Given the description of an element on the screen output the (x, y) to click on. 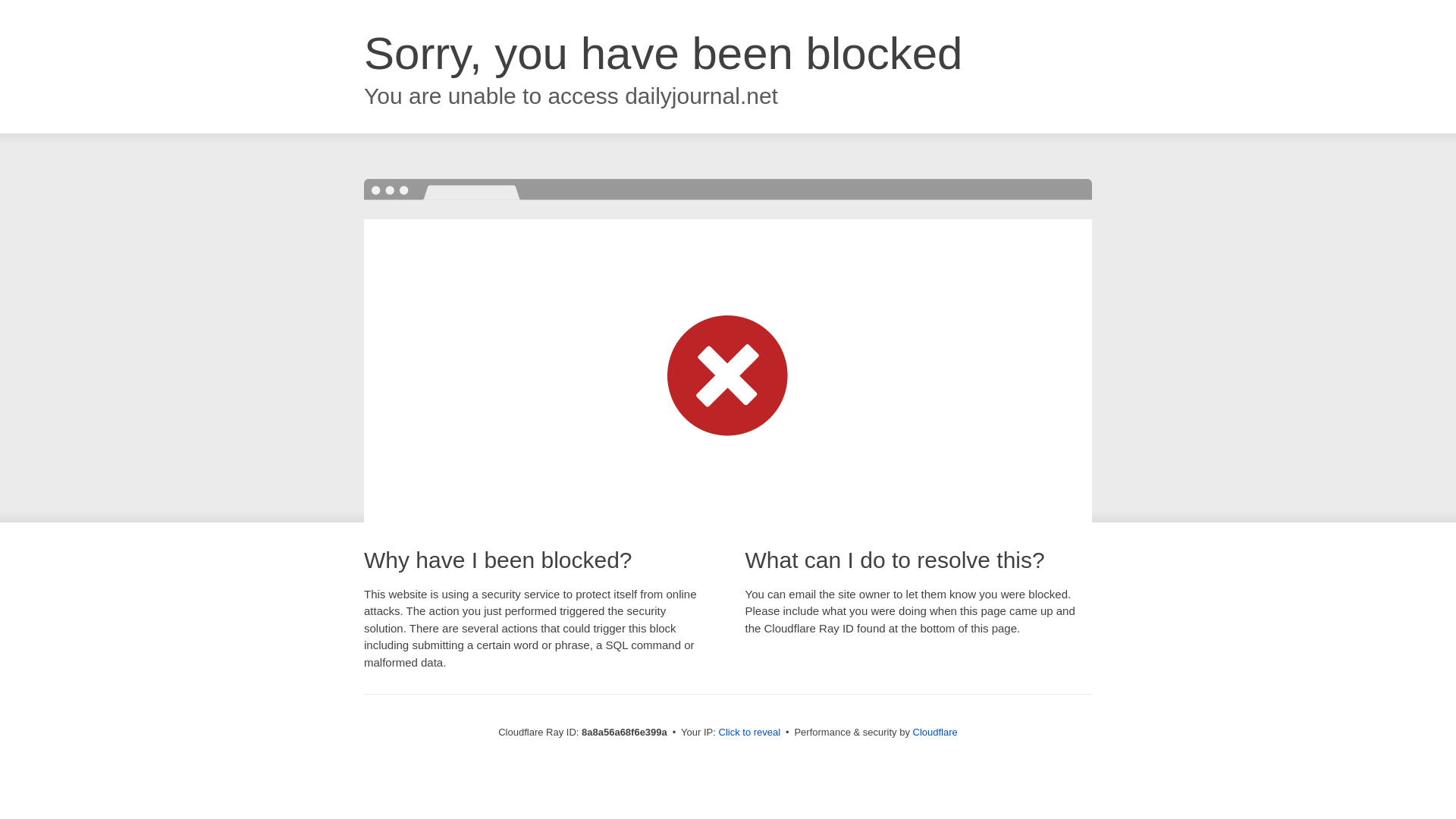
Click to reveal (749, 732)
Cloudflare (935, 731)
